Given the description of an element on the screen output the (x, y) to click on. 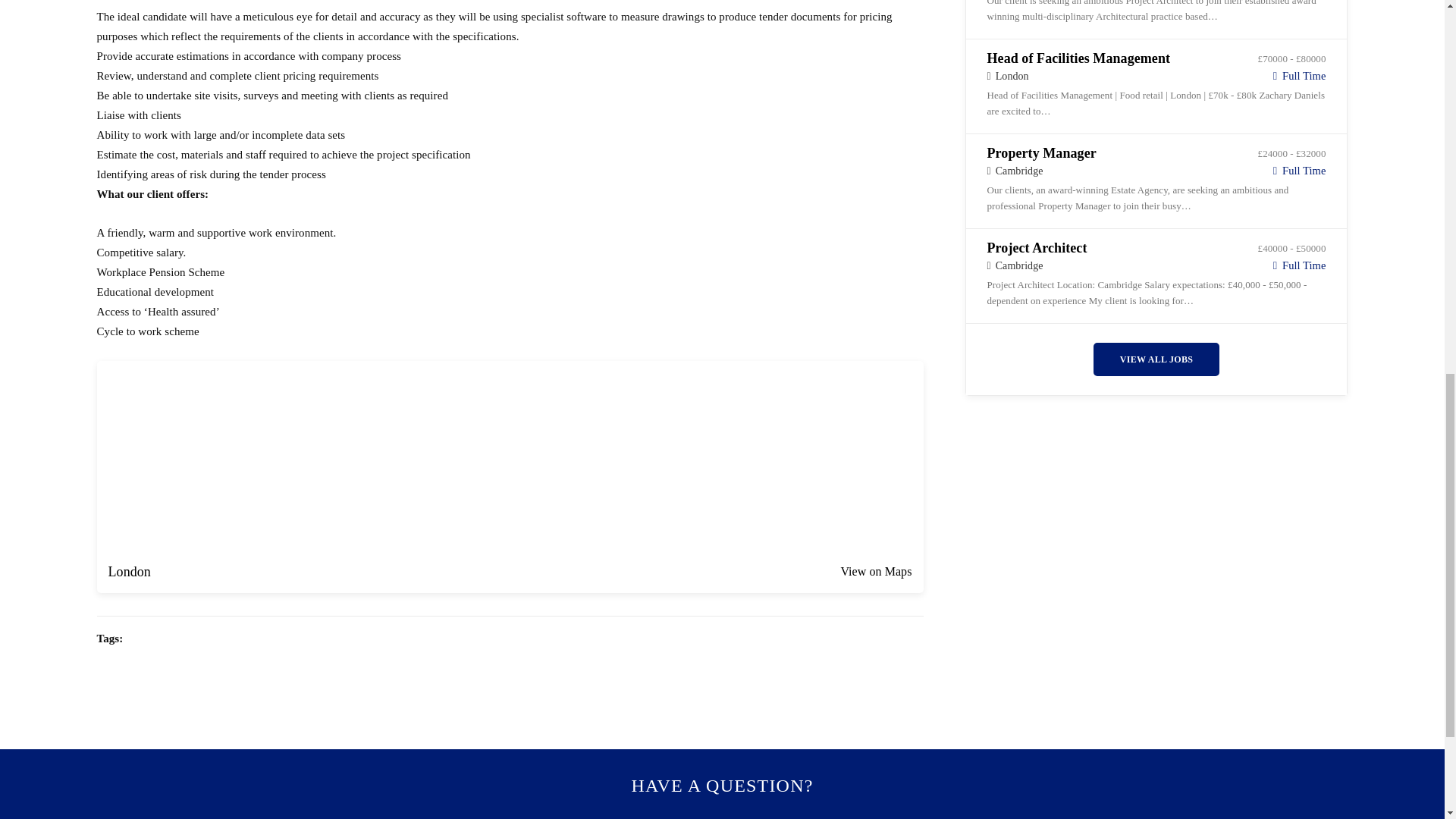
London (128, 571)
View on Maps (875, 571)
